Given the description of an element on the screen output the (x, y) to click on. 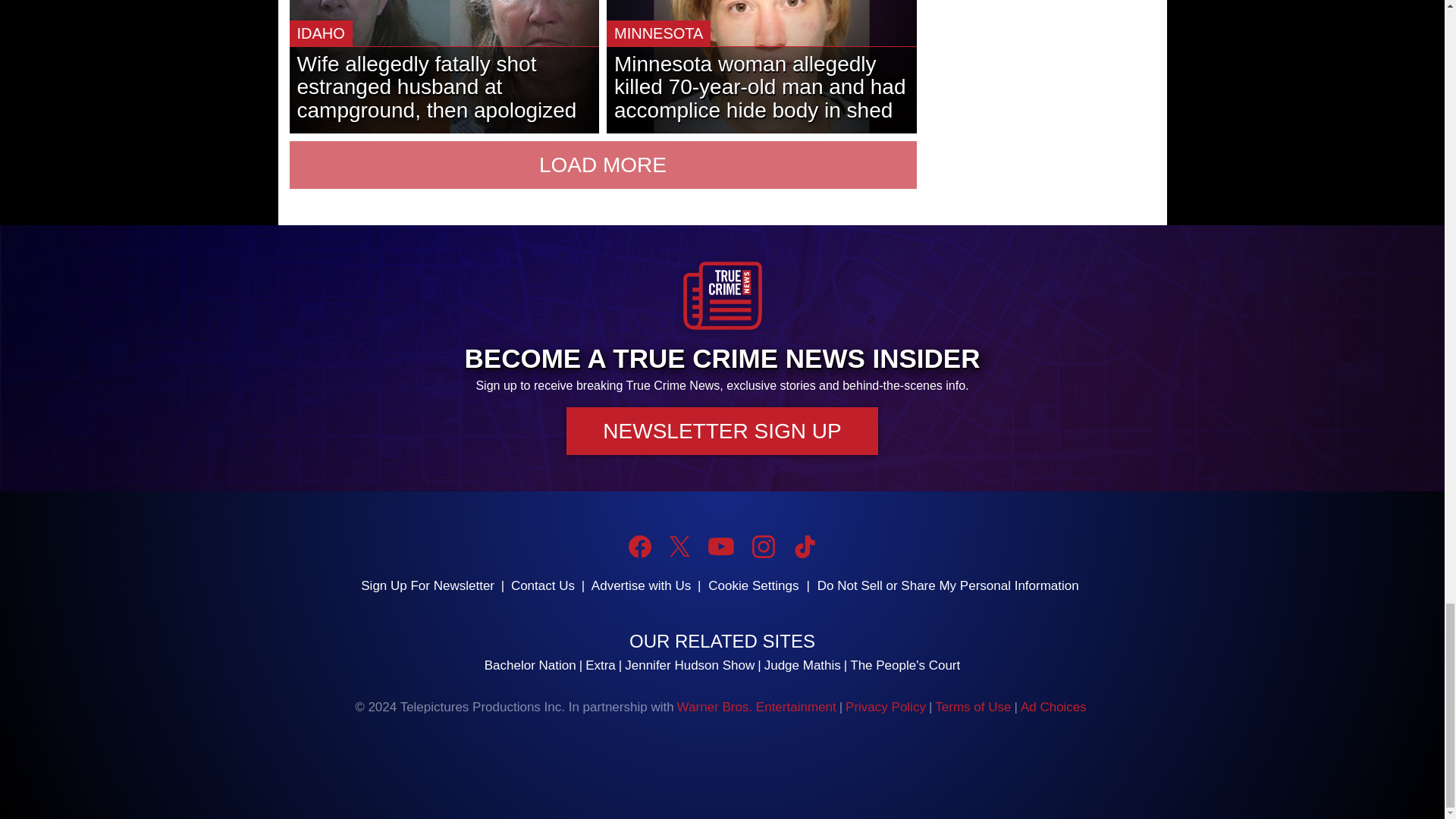
Facebook (639, 546)
Instagram (763, 546)
TikTok (804, 546)
YouTube (720, 546)
Twitter (679, 546)
